Given the description of an element on the screen output the (x, y) to click on. 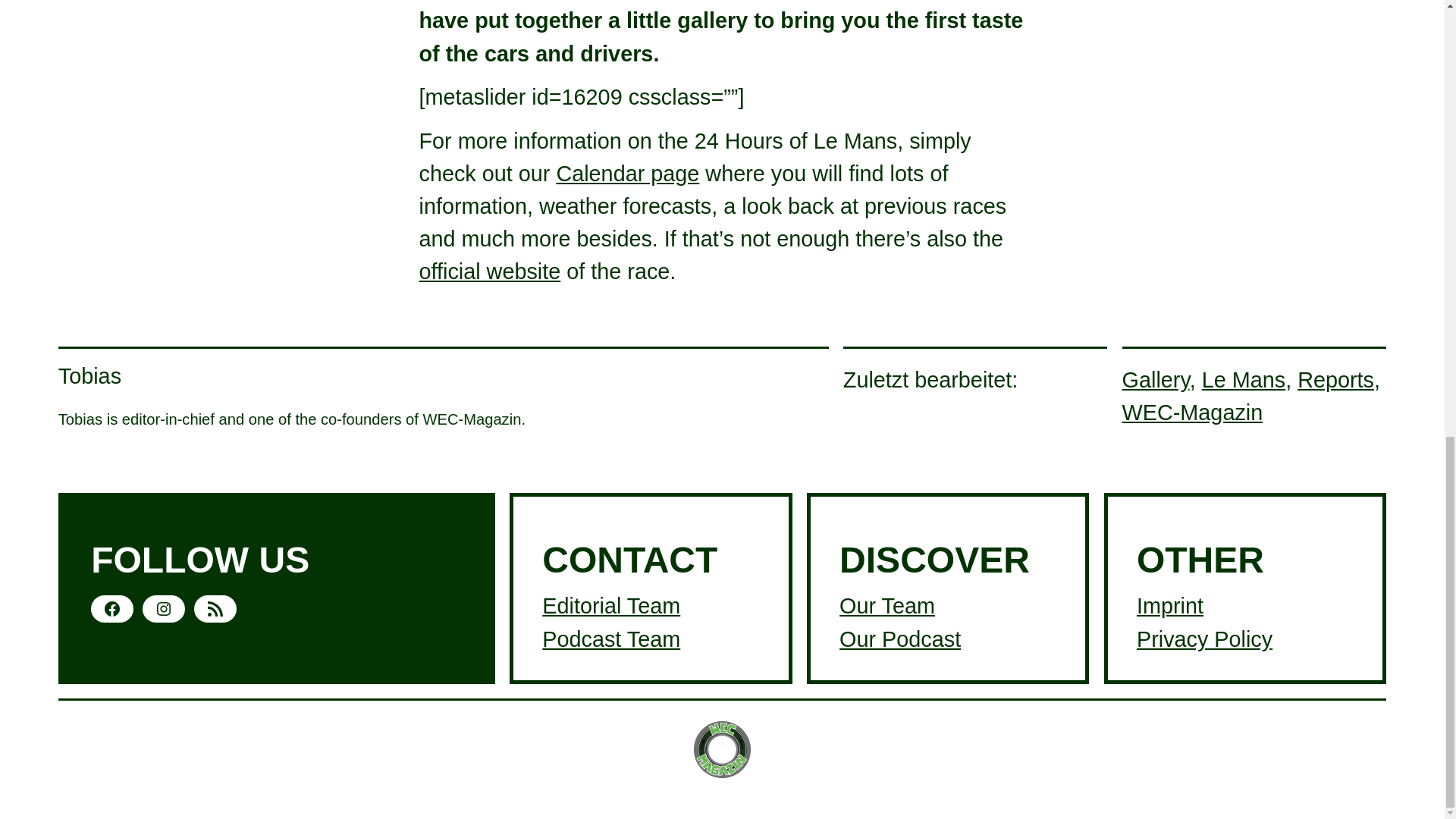
Our Podcast (900, 639)
Reports (1335, 379)
Gallery (1155, 379)
Calendar page (627, 173)
Instagram (163, 608)
Facebook (111, 608)
Our Team (887, 605)
Privacy Policy (1204, 639)
Imprint (1170, 605)
RSS Feed (214, 608)
